Given the description of an element on the screen output the (x, y) to click on. 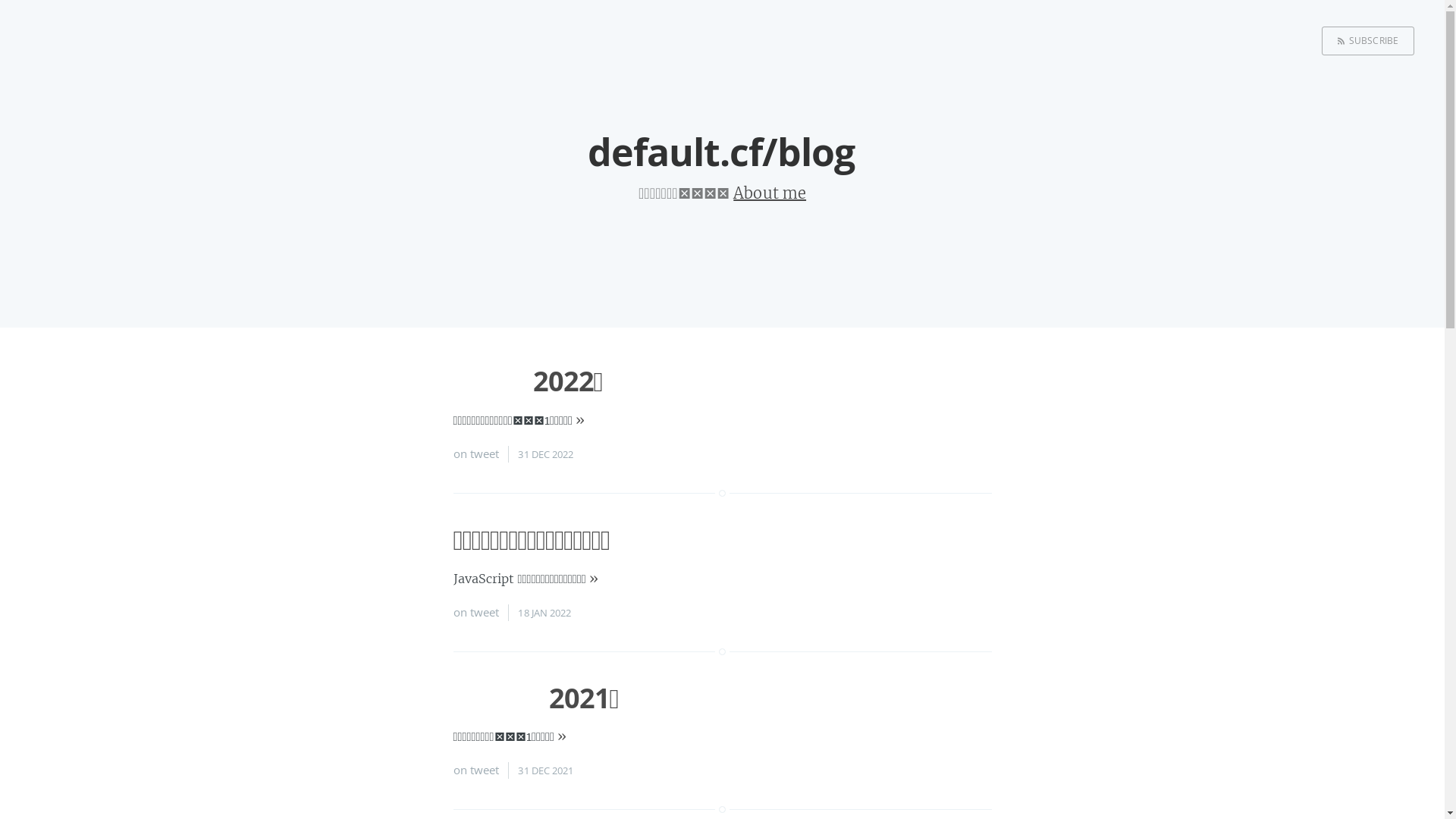
SUBSCRIBE Element type: text (1367, 40)
About me Element type: text (769, 192)
